Given the description of an element on the screen output the (x, y) to click on. 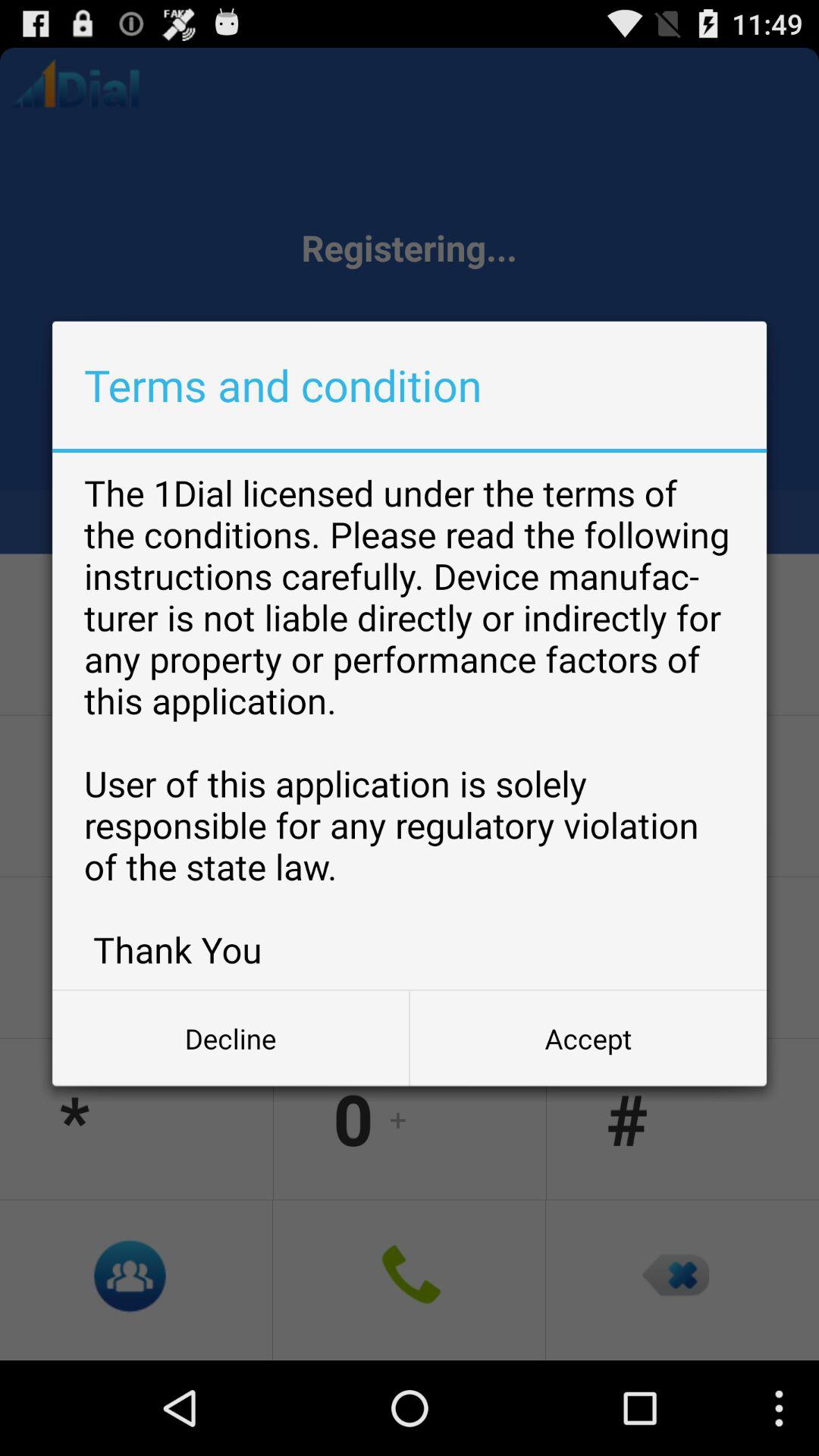
swipe to accept item (588, 1038)
